Given the description of an element on the screen output the (x, y) to click on. 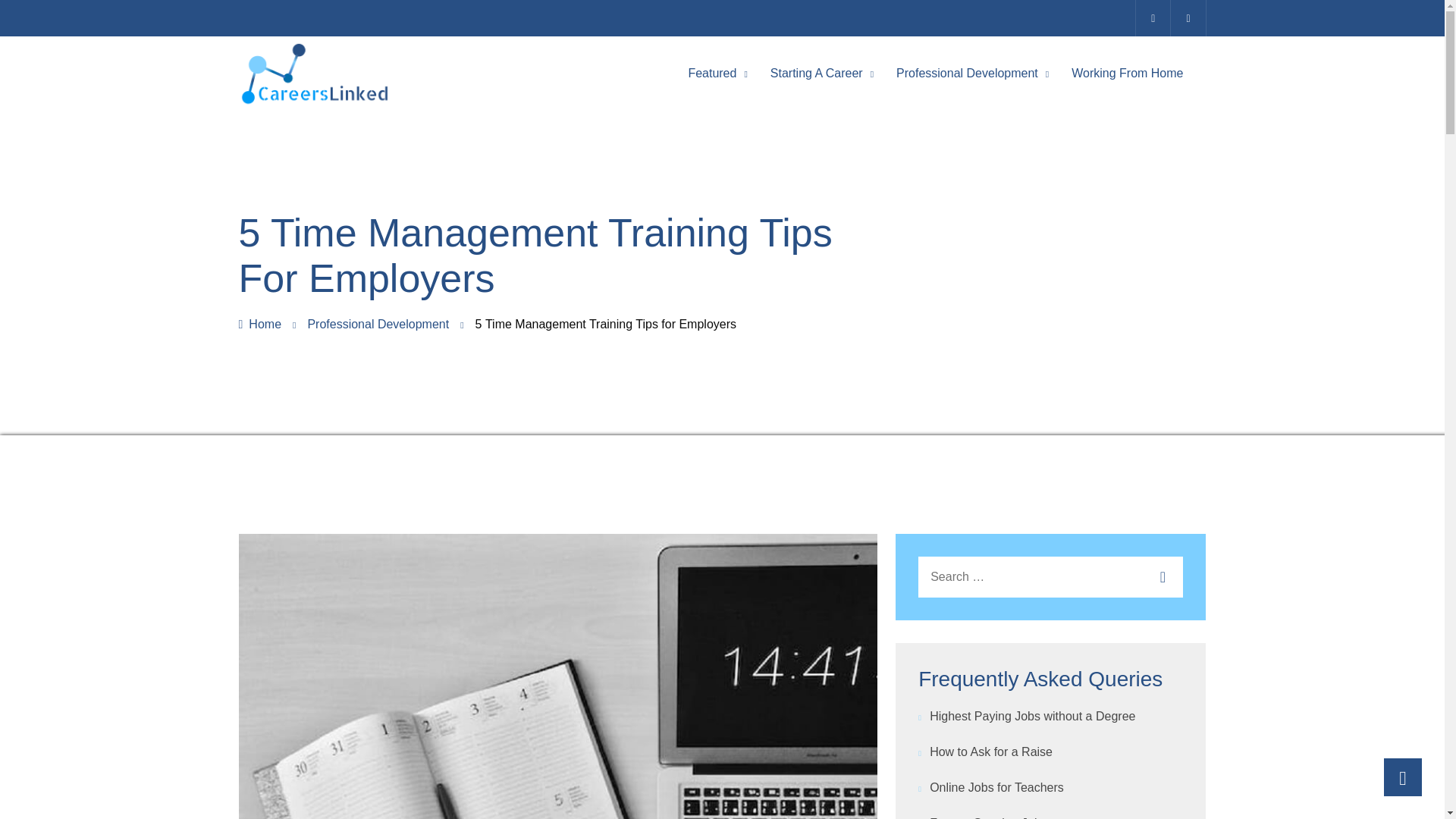
Home (259, 323)
Professional Development (377, 323)
Starting A Career (816, 72)
Professional Development (967, 72)
Working From Home (1126, 72)
Featured (711, 72)
